Given the description of an element on the screen output the (x, y) to click on. 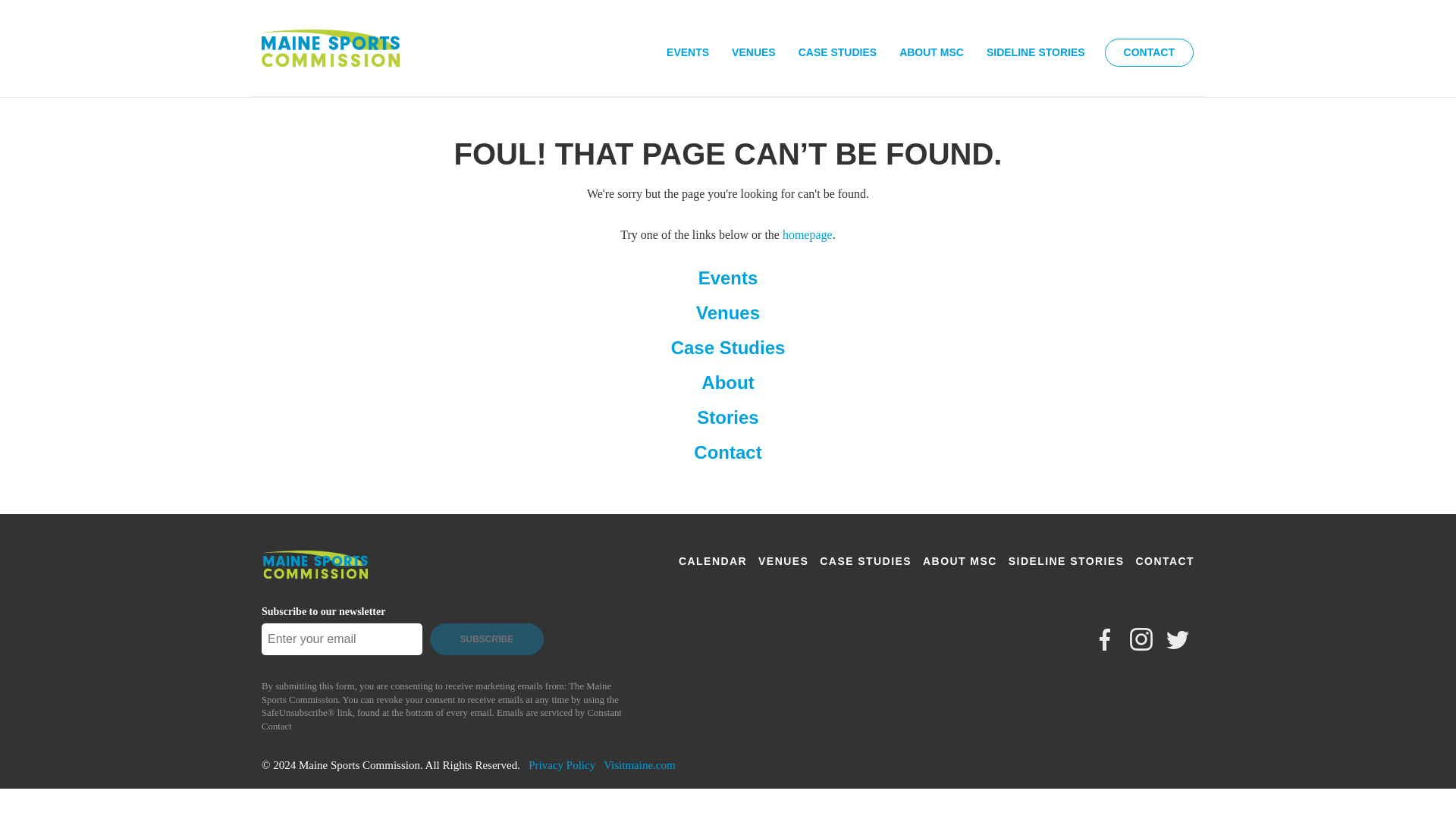
About (727, 382)
Events (728, 277)
Stories (727, 417)
Case Studies (728, 347)
EVENTS (687, 52)
Follow Maine Sports Commission on Twitter (1177, 639)
Visitmaine.com (639, 765)
VENUES (753, 52)
Emails are serviced by Constant Contact (441, 719)
Maine Sports Commission (329, 53)
Follow Maine Sports Commission on Instagram (1141, 639)
Subscribe (486, 639)
Follow Maine Sports Commission on Facebook (1104, 639)
CASE STUDIES (836, 52)
Maine Sports Commission (315, 576)
